Given the description of an element on the screen output the (x, y) to click on. 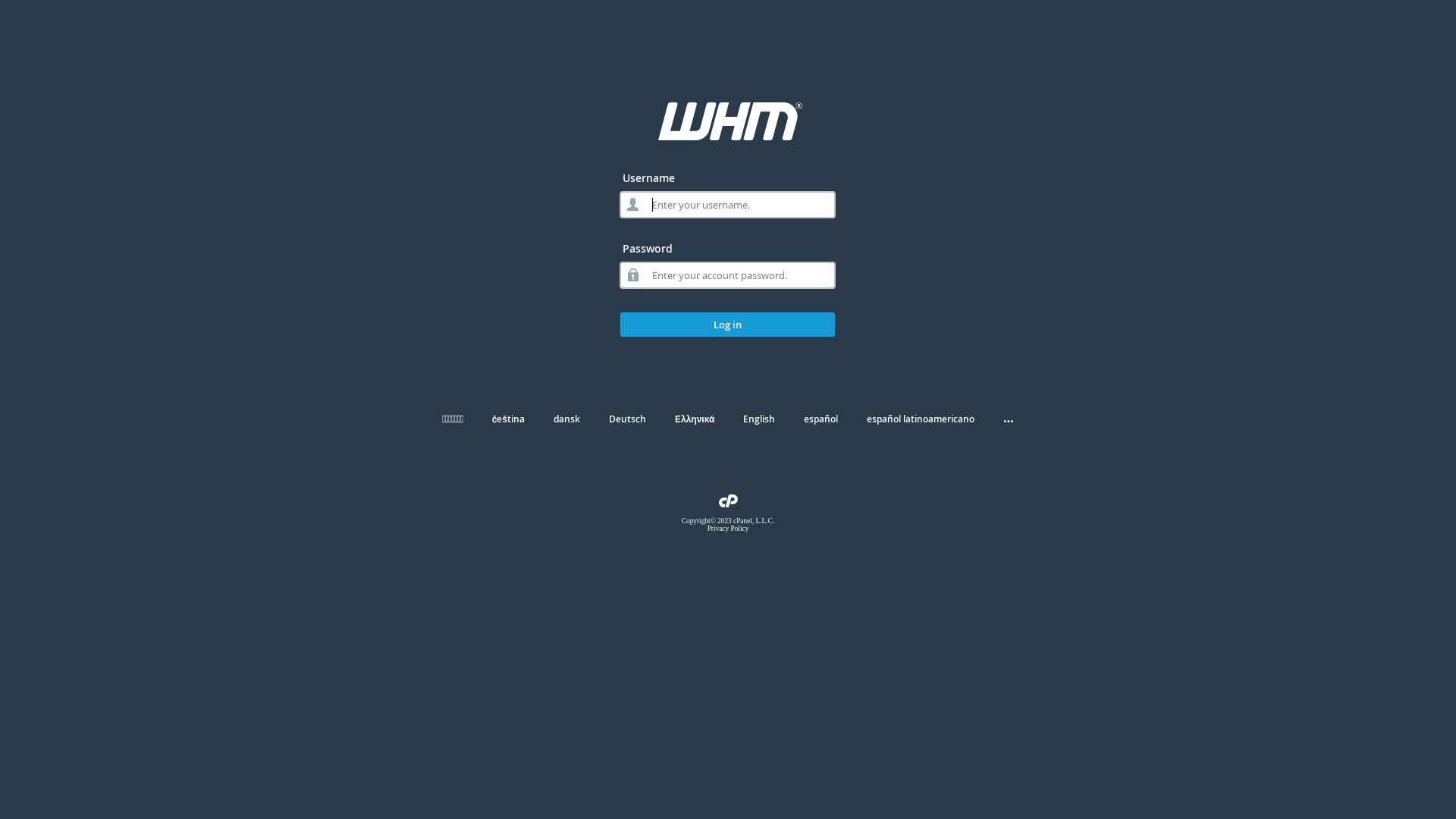
dansk Element type: text (566, 418)
Privacy Policy Element type: text (728, 528)
English Element type: text (759, 418)
Deutsch Element type: text (627, 418)
Log in Element type: text (727, 324)
